Given the description of an element on the screen output the (x, y) to click on. 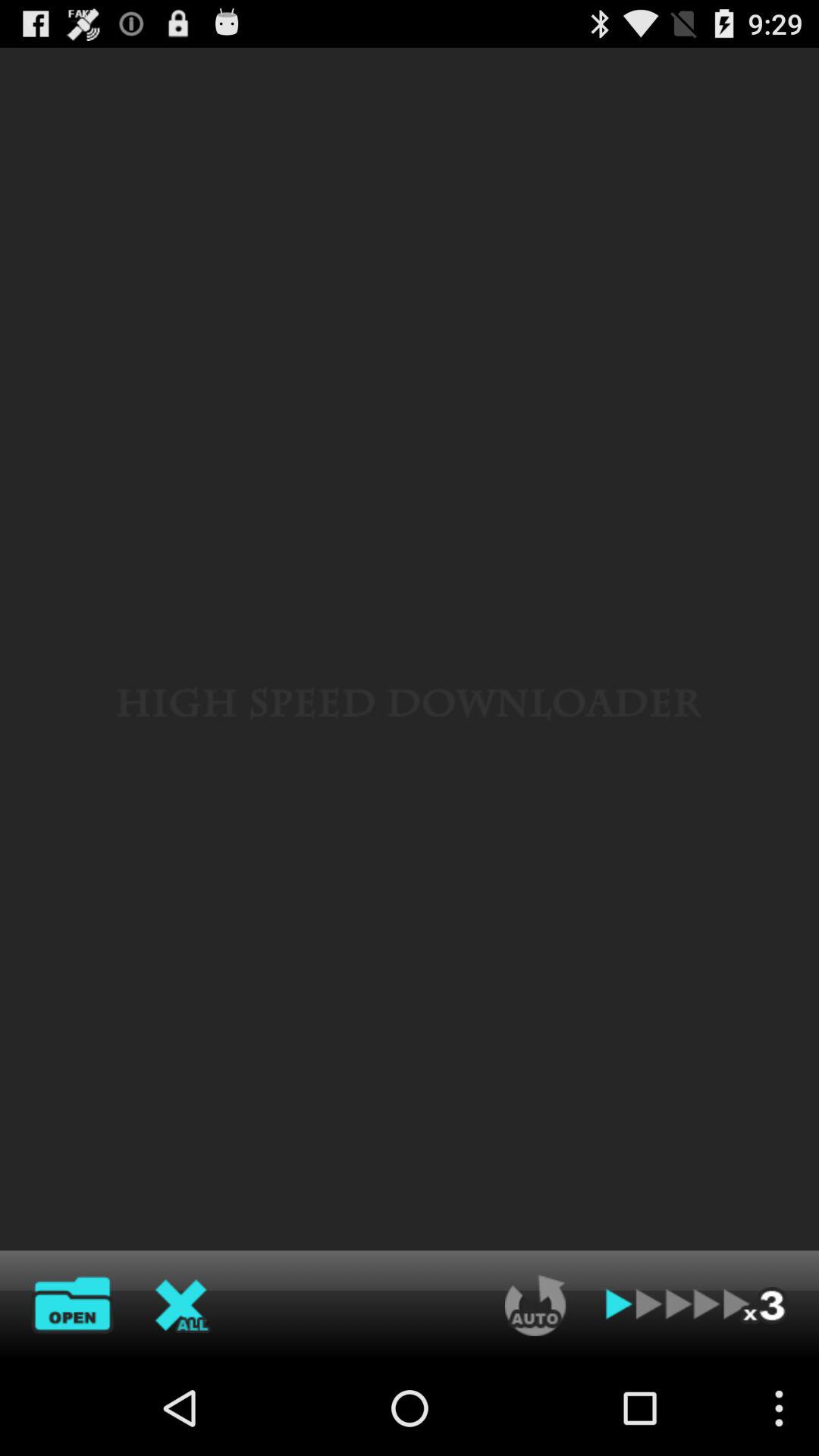
forward one more (696, 1305)
